Given the description of an element on the screen output the (x, y) to click on. 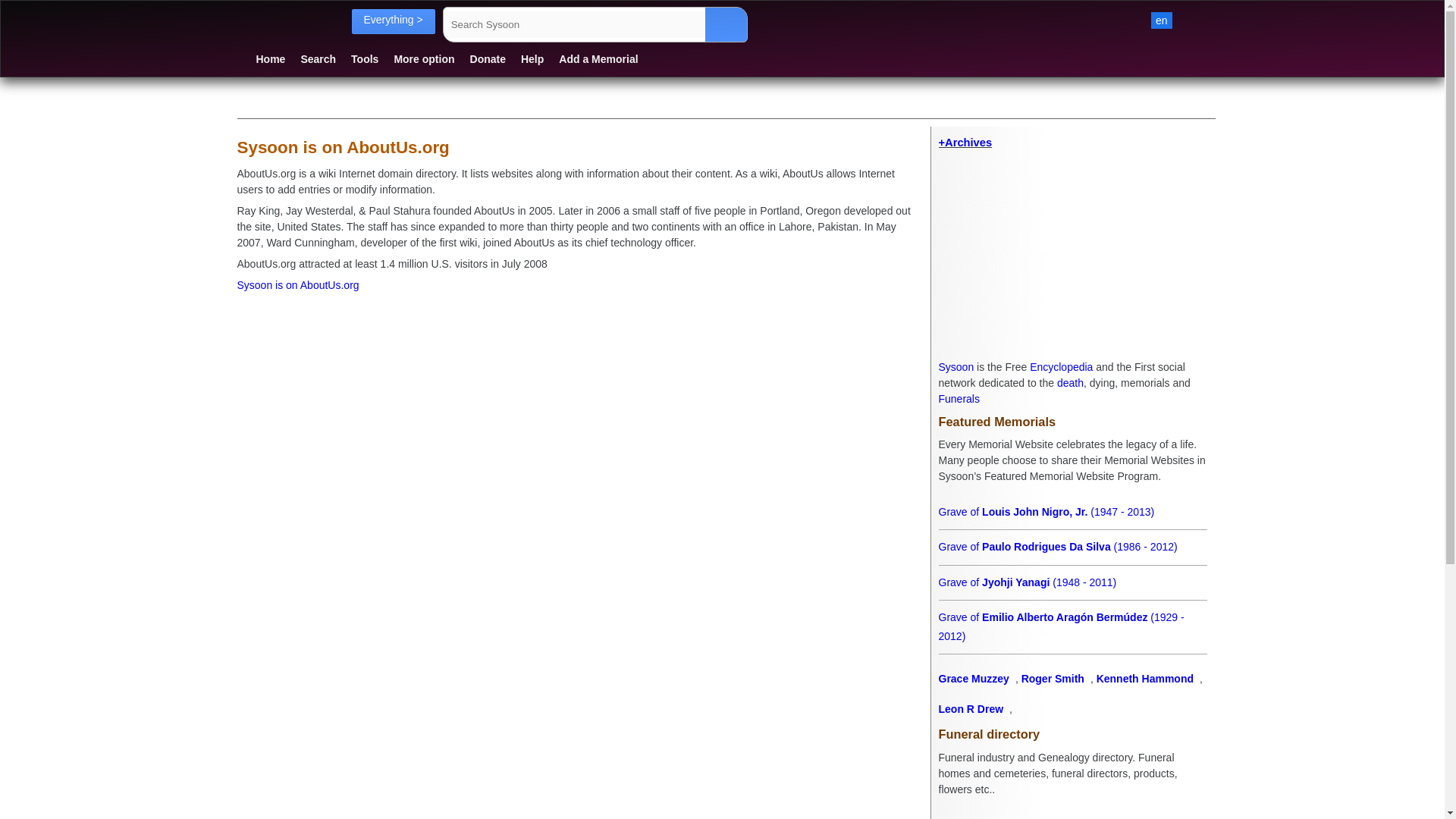
Facebook (331, 104)
Help (532, 58)
Google (373, 104)
Sysoon (956, 367)
Search Sysoon (595, 24)
Featured Memorials (1073, 421)
Page (247, 104)
en (1161, 20)
Share (414, 104)
Add a Memorial (598, 58)
